Given the description of an element on the screen output the (x, y) to click on. 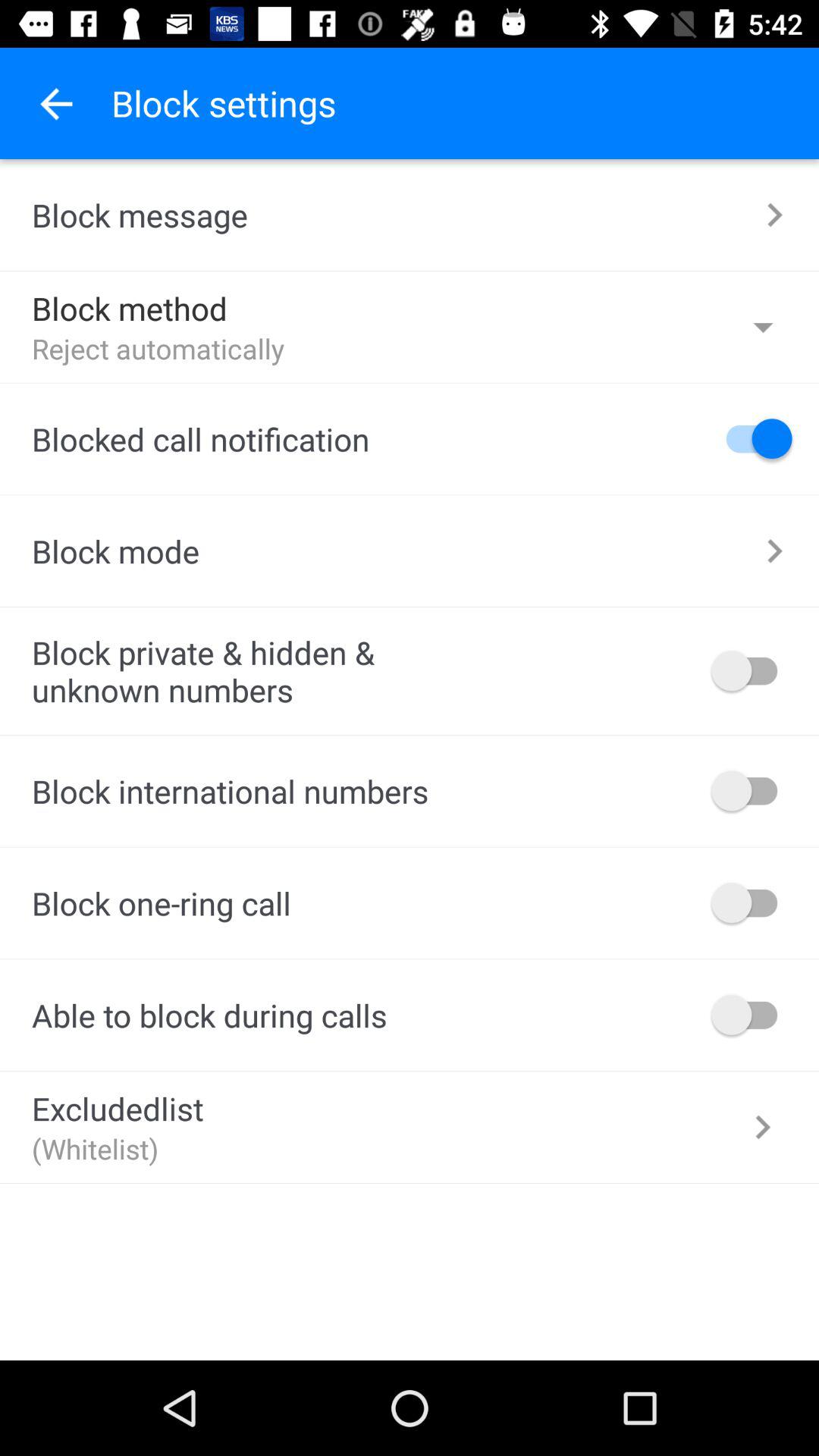
toggle blocked-call notifications (751, 438)
